Given the description of an element on the screen output the (x, y) to click on. 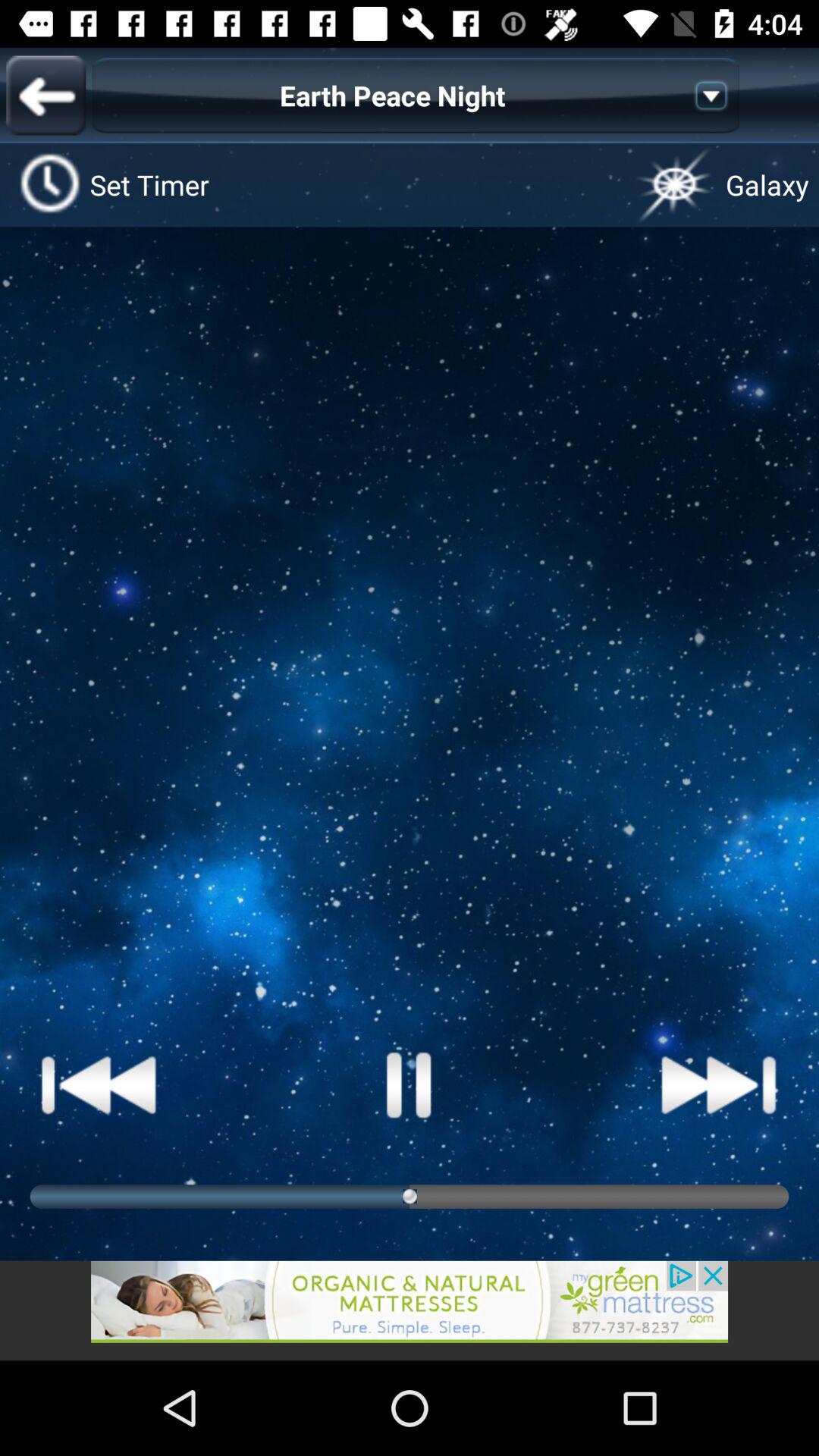
go to next (719, 1084)
